Given the description of an element on the screen output the (x, y) to click on. 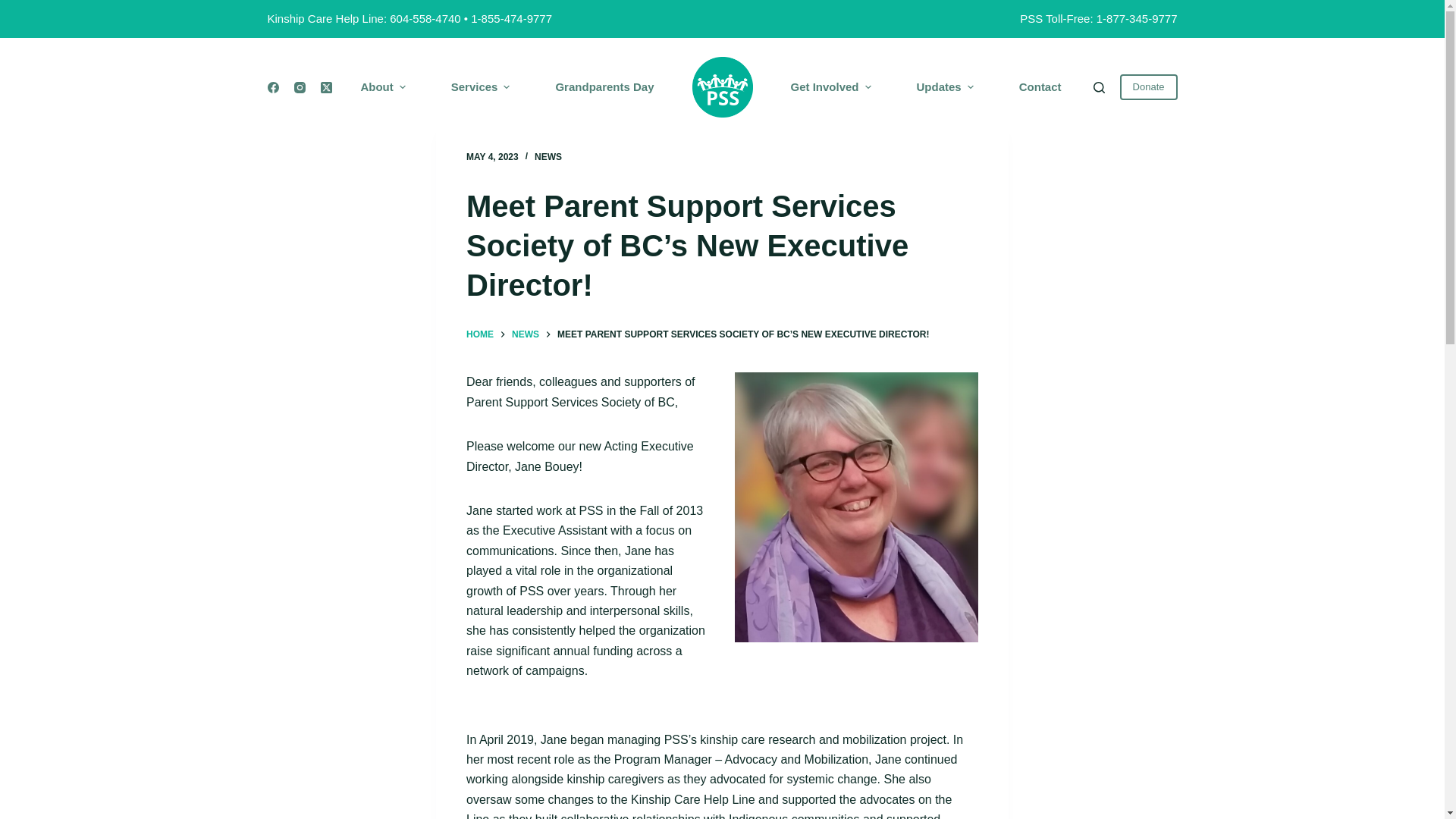
PSS Toll-Free: 1-877-345-9777 (1098, 18)
Skip to content (15, 7)
1-855-474-9777 (510, 18)
604-558-4740 (425, 18)
